Given the description of an element on the screen output the (x, y) to click on. 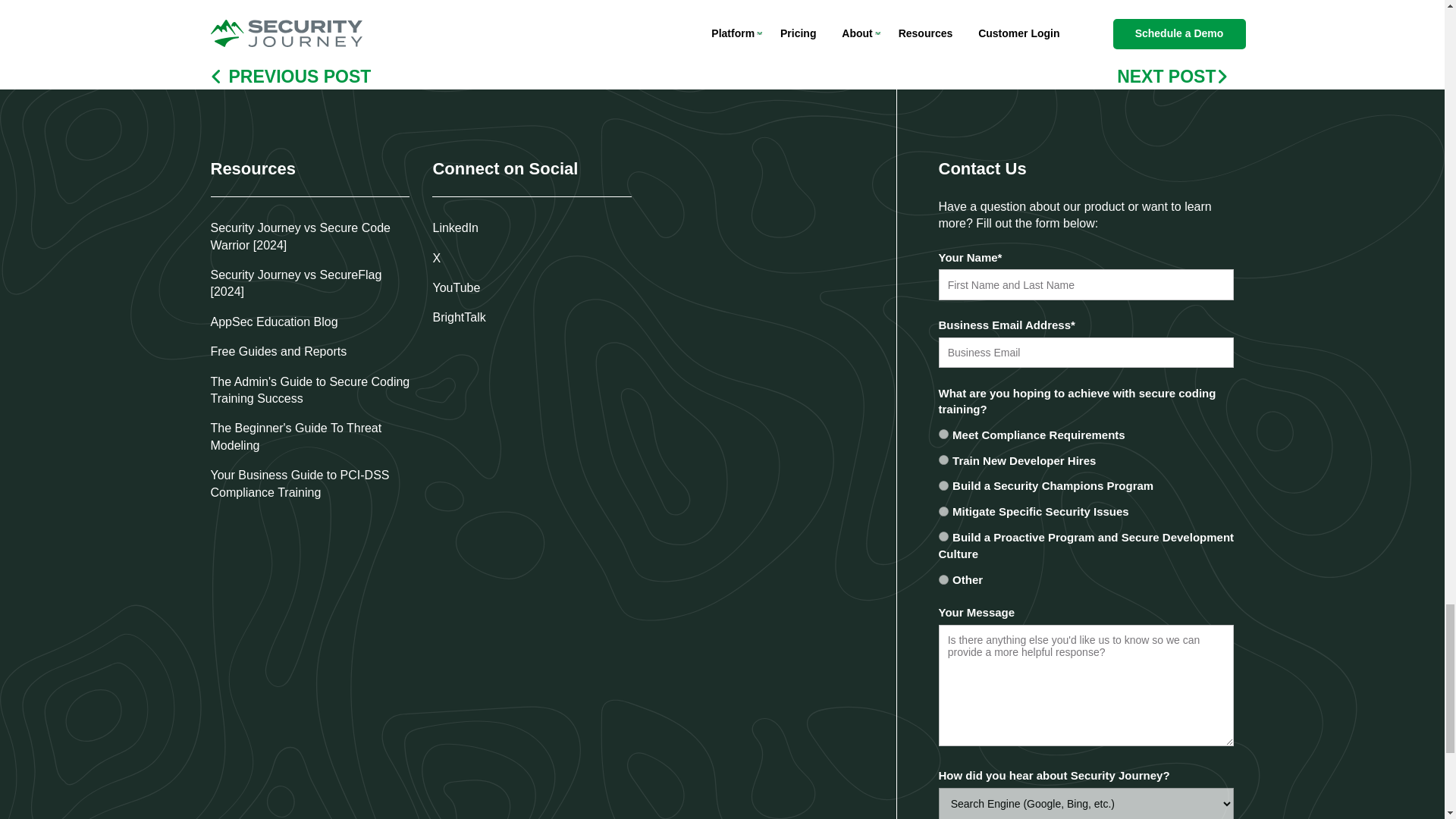
Build a Proactive Program and Secure Development Culture (944, 536)
Meet compliance requirements (944, 433)
Other (944, 579)
Mitigate Specific Security Issues (944, 511)
Build a security champions program (944, 485)
Train new developer hires (944, 460)
